Given the description of an element on the screen output the (x, y) to click on. 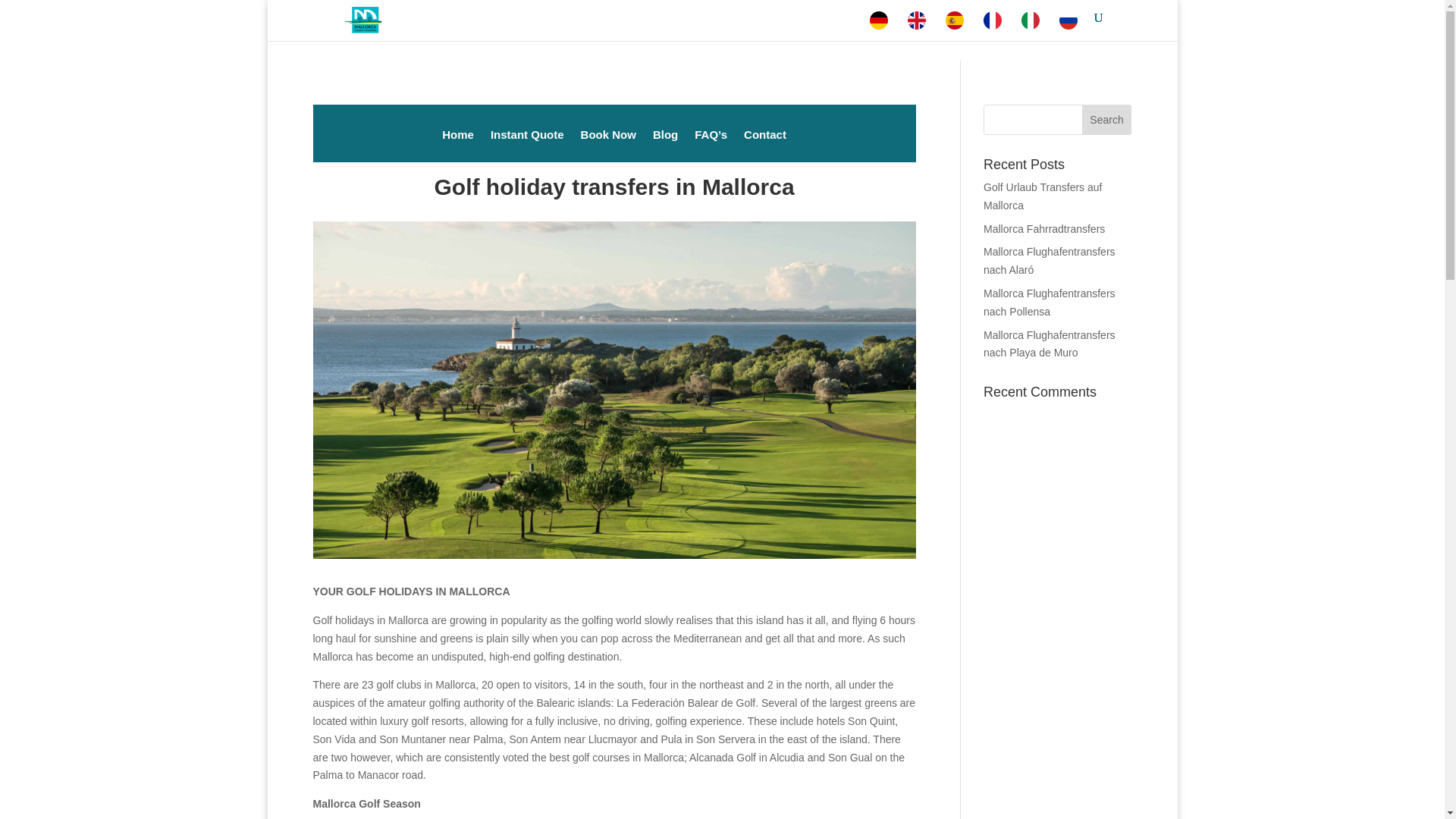
Mallorca Flughafentransfers nach Pollensa (1049, 302)
Search (1106, 119)
Search (1106, 119)
Mallorca Flughafentransfers nach Playa de Muro (1049, 344)
Contact (765, 145)
Book Now (608, 145)
Mallorca Fahrradtransfers (1044, 228)
Home (458, 145)
Golf Urlaub Transfers auf Mallorca (1043, 195)
